Given the description of an element on the screen output the (x, y) to click on. 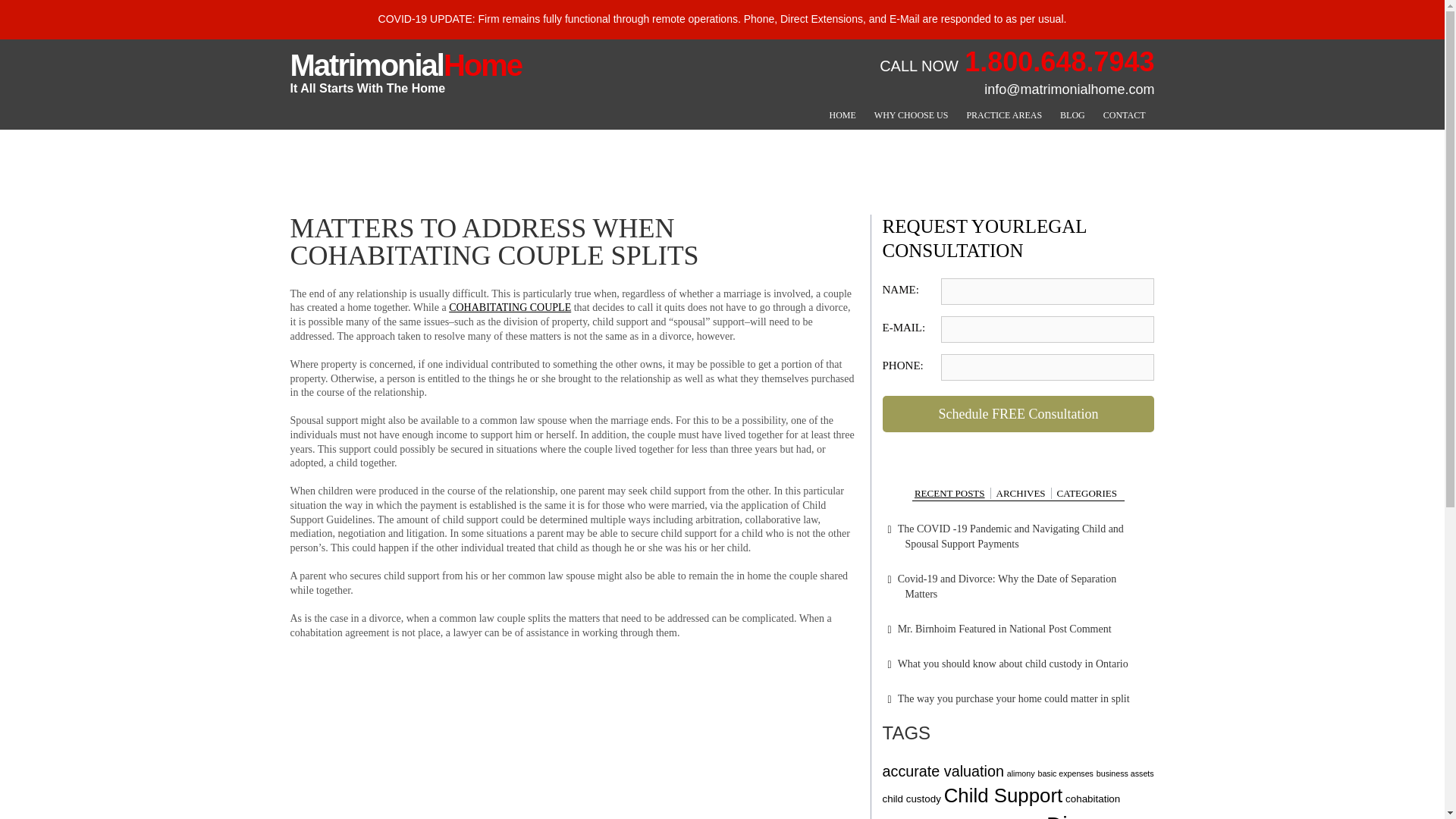
HOME (842, 115)
CONTACT (1124, 115)
PRACTICE AREAS (1003, 115)
ARCHIVES (1020, 493)
BLOG (1072, 115)
COHABITATING COUPLE (509, 307)
WHY CHOOSE US (911, 115)
1.800.648.7943 (405, 73)
Schedule FREE Consultation (1058, 60)
RECENT POSTS (1018, 413)
Schedule FREE Consultation (952, 493)
